Given the description of an element on the screen output the (x, y) to click on. 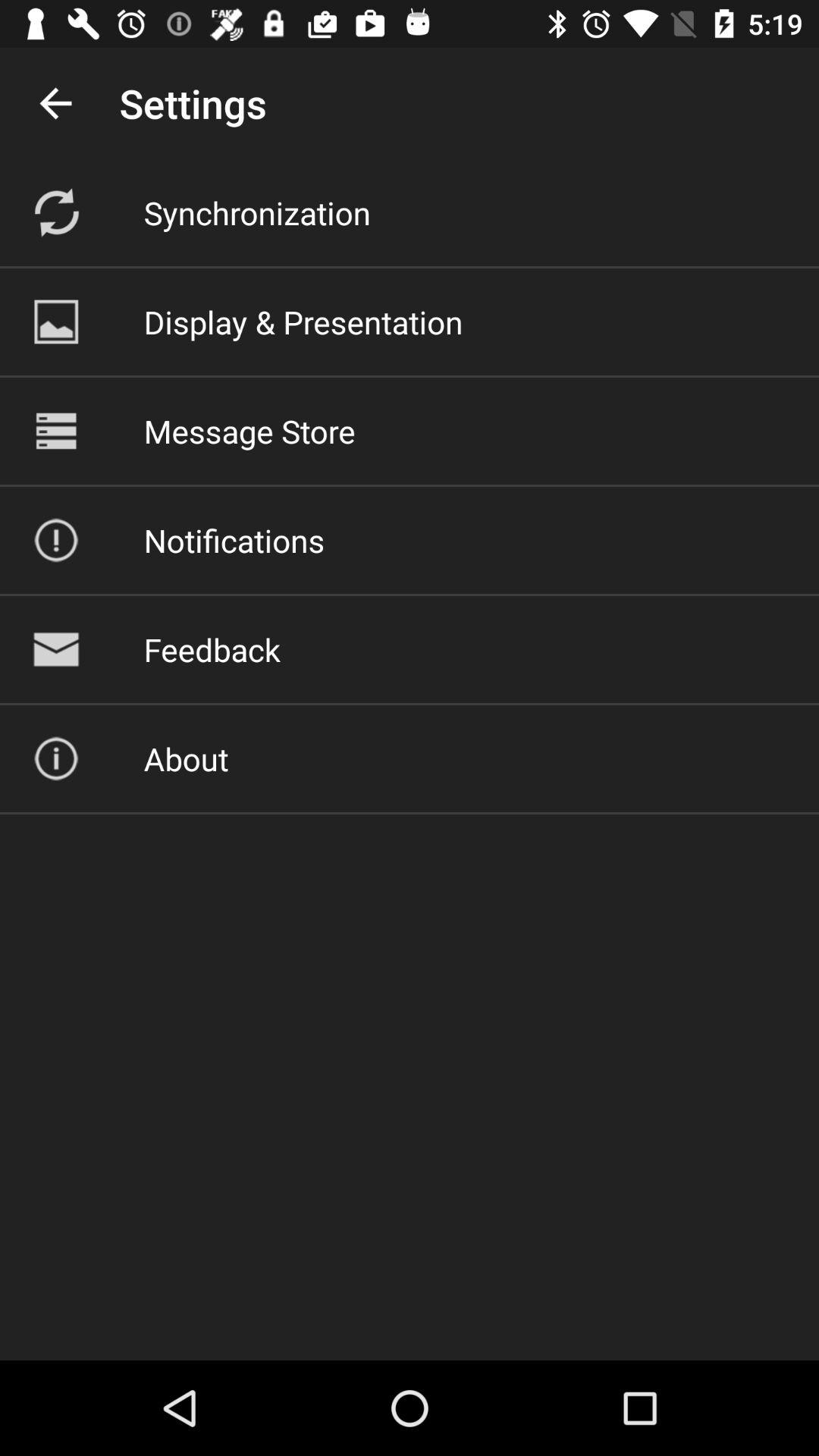
open the synchronization (256, 212)
